Given the description of an element on the screen output the (x, y) to click on. 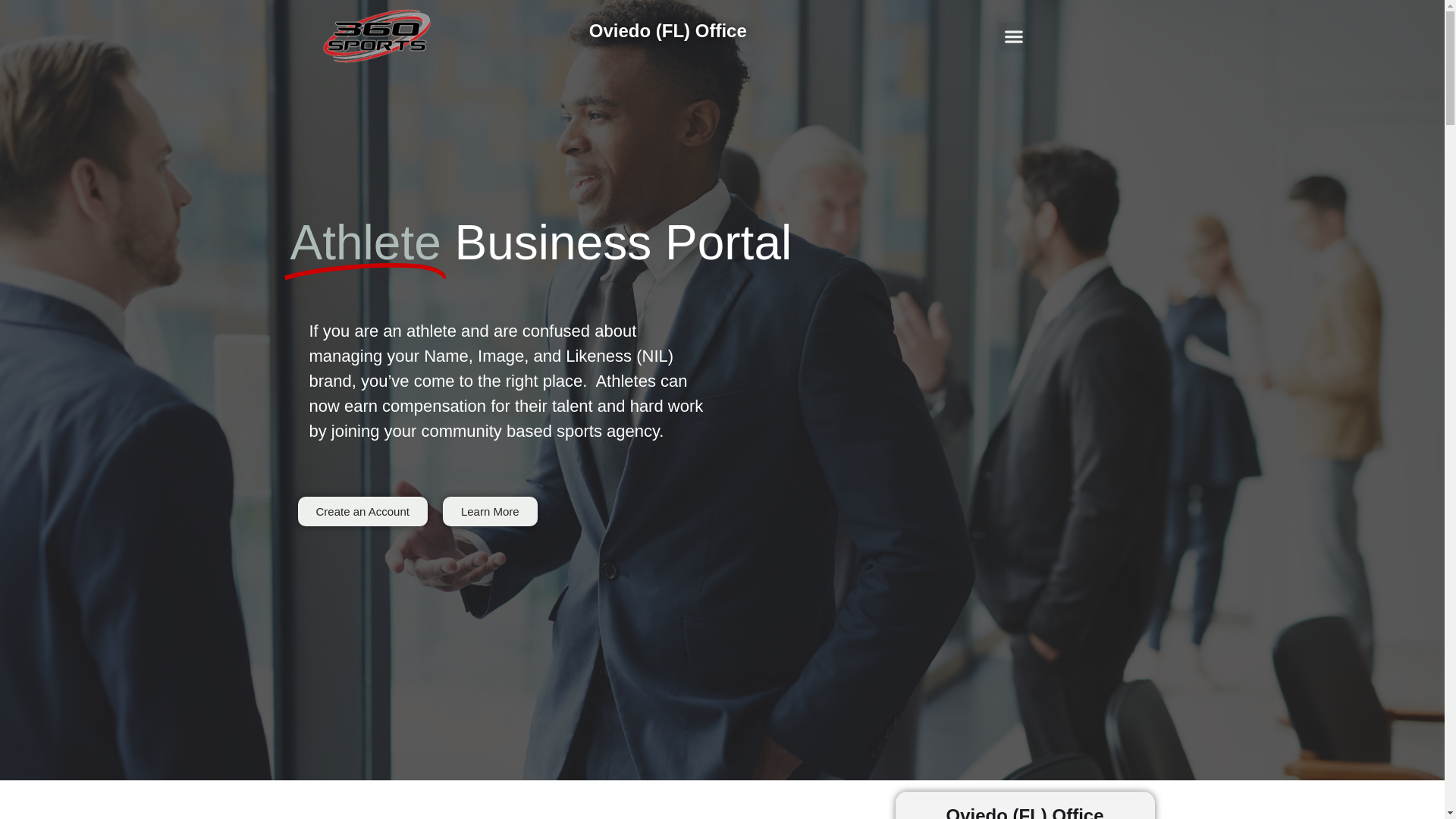
Create an Account Element type: text (361, 511)
Learn More Element type: text (489, 511)
